Given the description of an element on the screen output the (x, y) to click on. 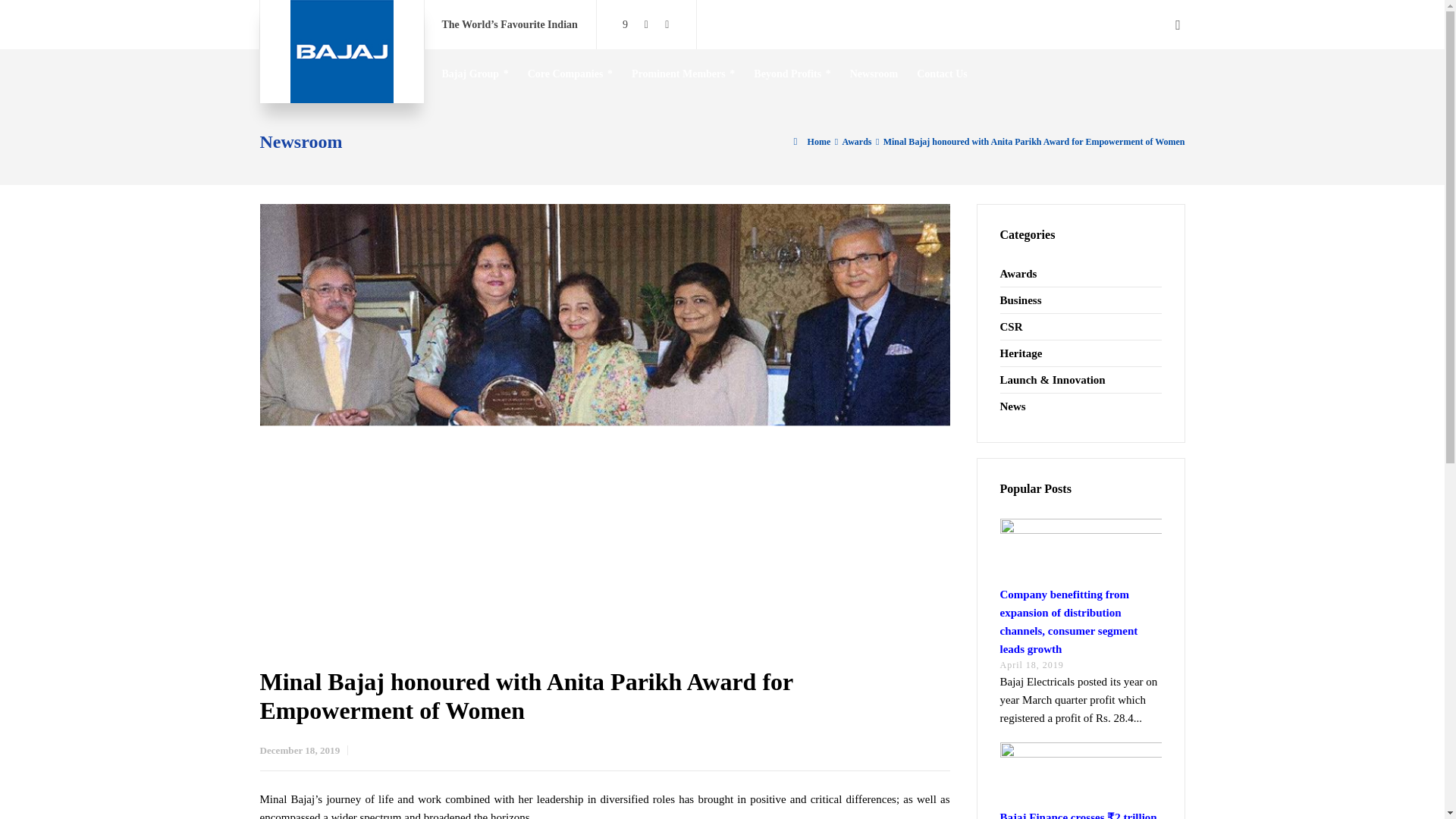
Prominent Members (683, 73)
Instagram (646, 24)
Bajaj Group (341, 51)
YouTube (667, 24)
Bajaj Group (475, 73)
Facebook (625, 24)
Core Companies (570, 73)
